Given the description of an element on the screen output the (x, y) to click on. 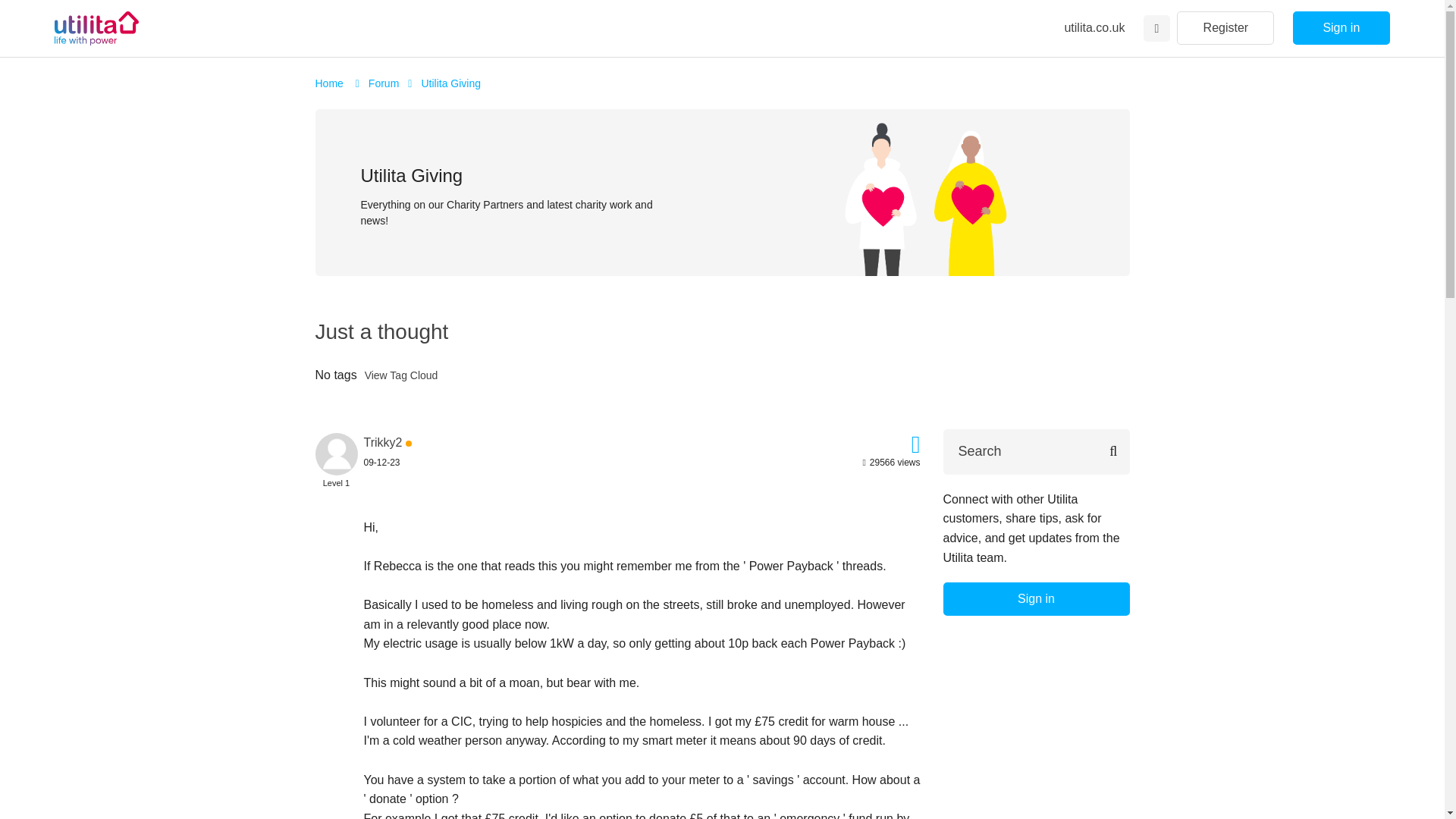
Trikky2 is offline (383, 441)
Forum banner picture (925, 192)
Reload this Page (381, 331)
Register (1225, 28)
Forum (383, 82)
Trikky2's Avatar (336, 454)
Utilita Giving (450, 82)
Just a thought (381, 331)
utilita.co.uk (1094, 27)
Home (330, 82)
Trikky2 (383, 441)
Accessibility (1156, 28)
View Tag Cloud (401, 375)
Sign in (1341, 28)
Trikky2 is offline (336, 452)
